Given the description of an element on the screen output the (x, y) to click on. 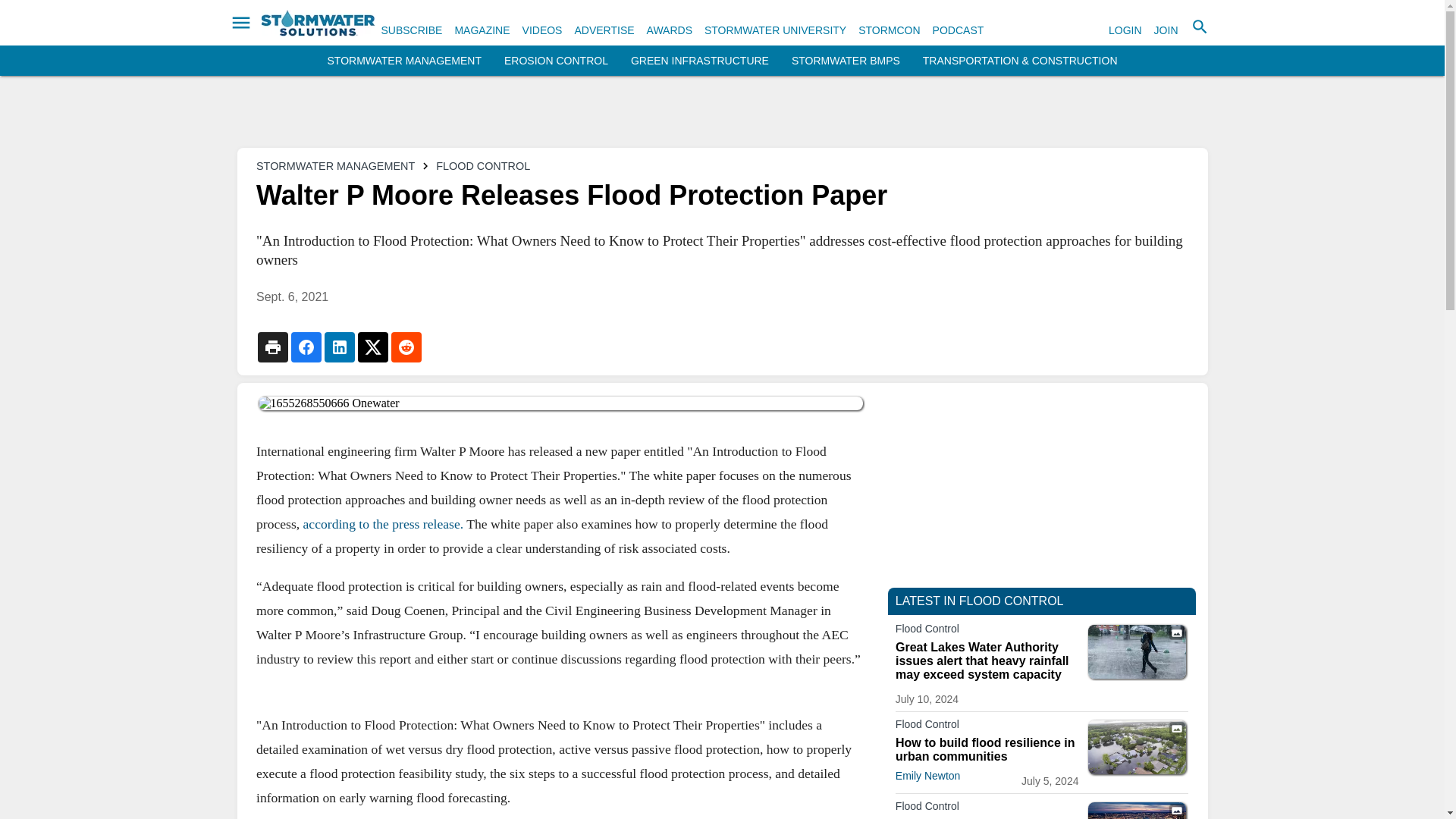
STORMWATER MANAGEMENT (404, 60)
VIDEOS (542, 30)
ADVERTISE (603, 30)
EROSION CONTROL (555, 60)
JOIN (1165, 30)
PODCAST (958, 30)
GREEN INFRASTRUCTURE (699, 60)
STORMWATER UNIVERSITY (774, 30)
MAGAZINE (481, 30)
STORMWATER BMPS (845, 60)
